Given the description of an element on the screen output the (x, y) to click on. 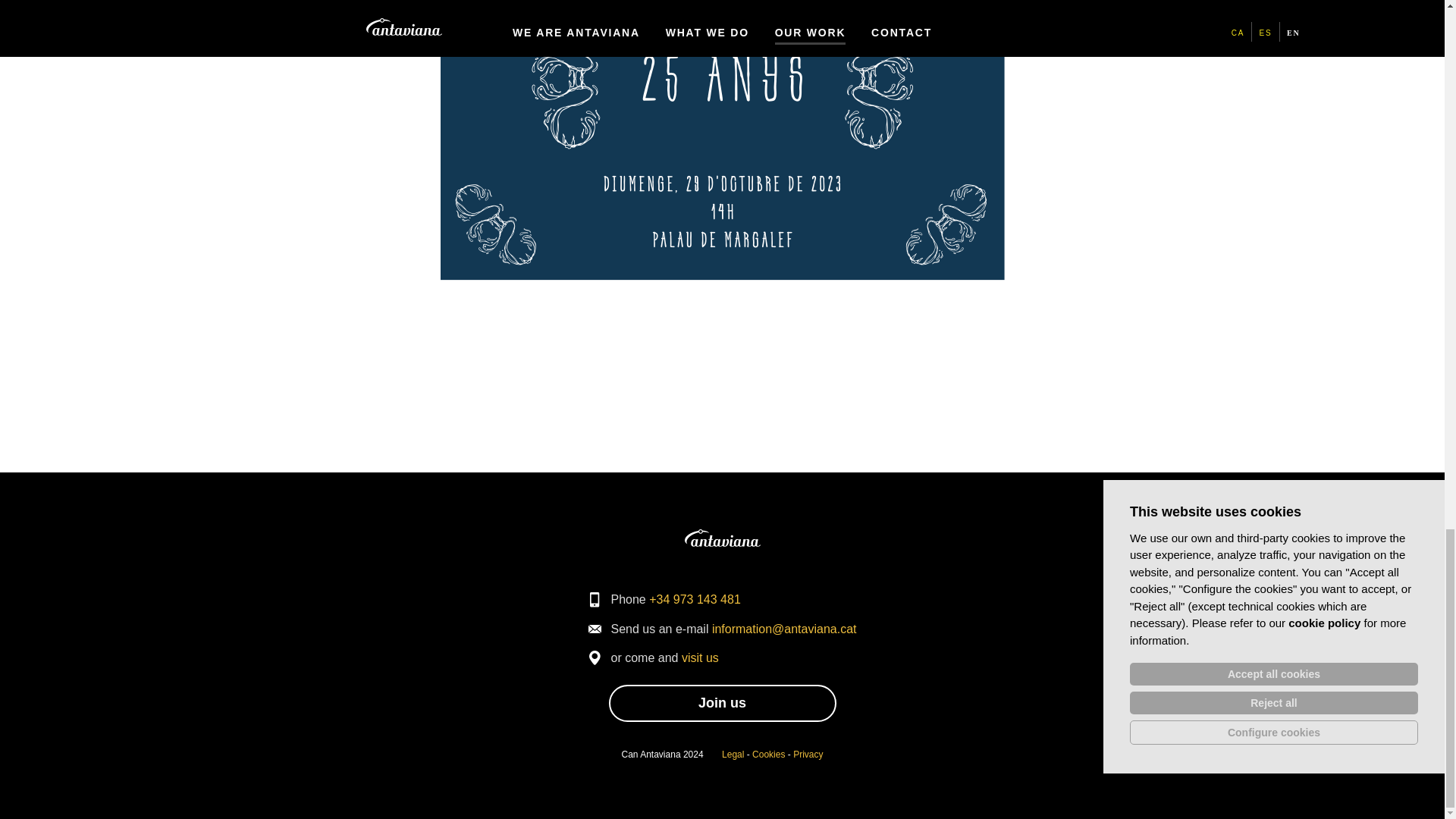
visit us (700, 657)
Join us (721, 702)
Legal (733, 754)
Privacy (807, 754)
Cookies (768, 754)
